Given the description of an element on the screen output the (x, y) to click on. 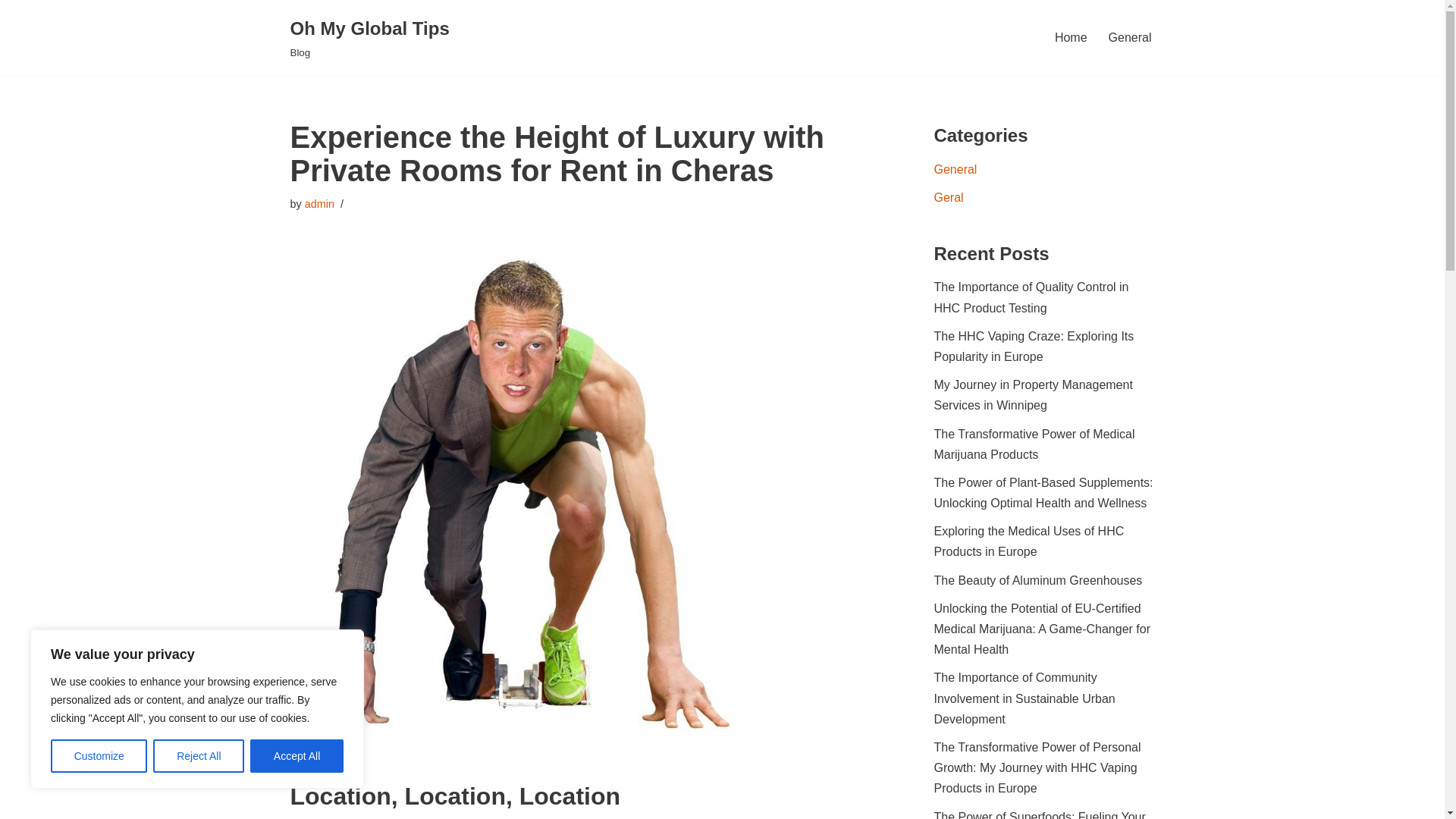
General (955, 169)
Exploring the Medical Uses of HHC Products in Europe (1029, 540)
The Importance of Quality Control in HHC Product Testing (1031, 296)
Accept All (296, 756)
Posts by admin (319, 203)
Customize (98, 756)
The Transformative Power of Medical Marijuana Products (1034, 444)
General (1129, 37)
My Journey in Property Management Services in Winnipeg (1033, 394)
